Given the description of an element on the screen output the (x, y) to click on. 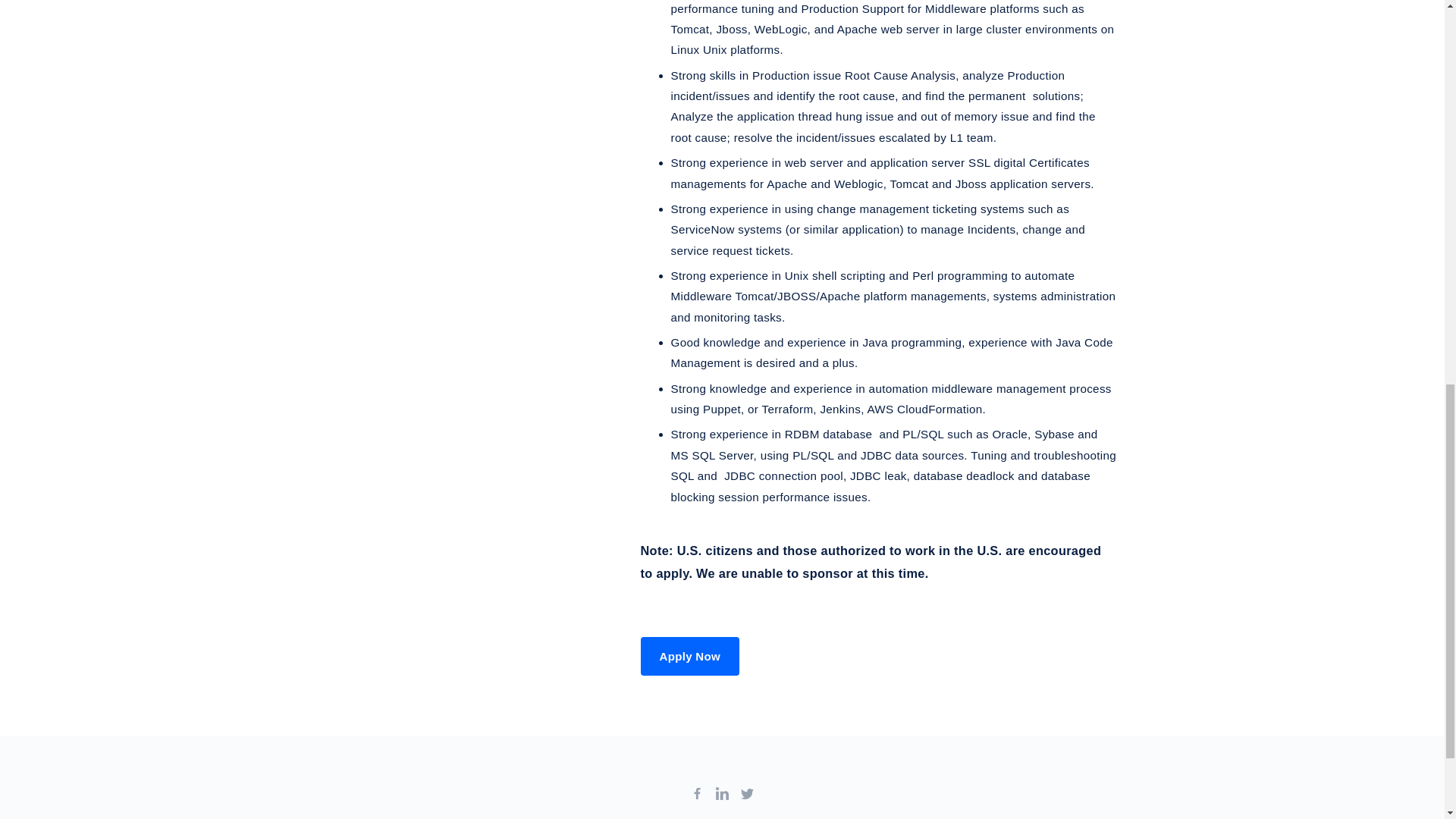
Apply Now (689, 656)
